Given the description of an element on the screen output the (x, y) to click on. 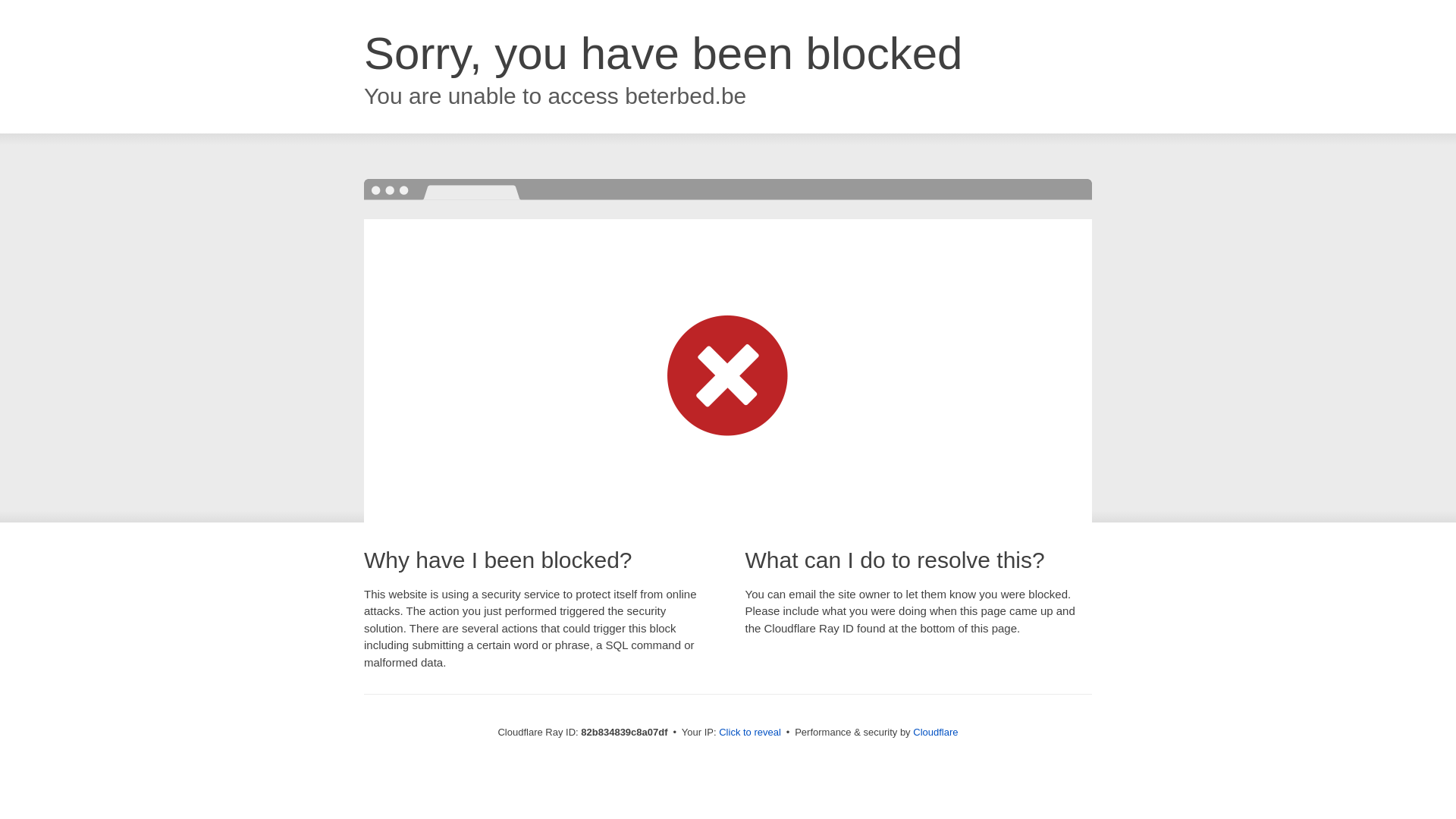
Cloudflare Element type: text (935, 731)
Click to reveal Element type: text (749, 732)
